Given the description of an element on the screen output the (x, y) to click on. 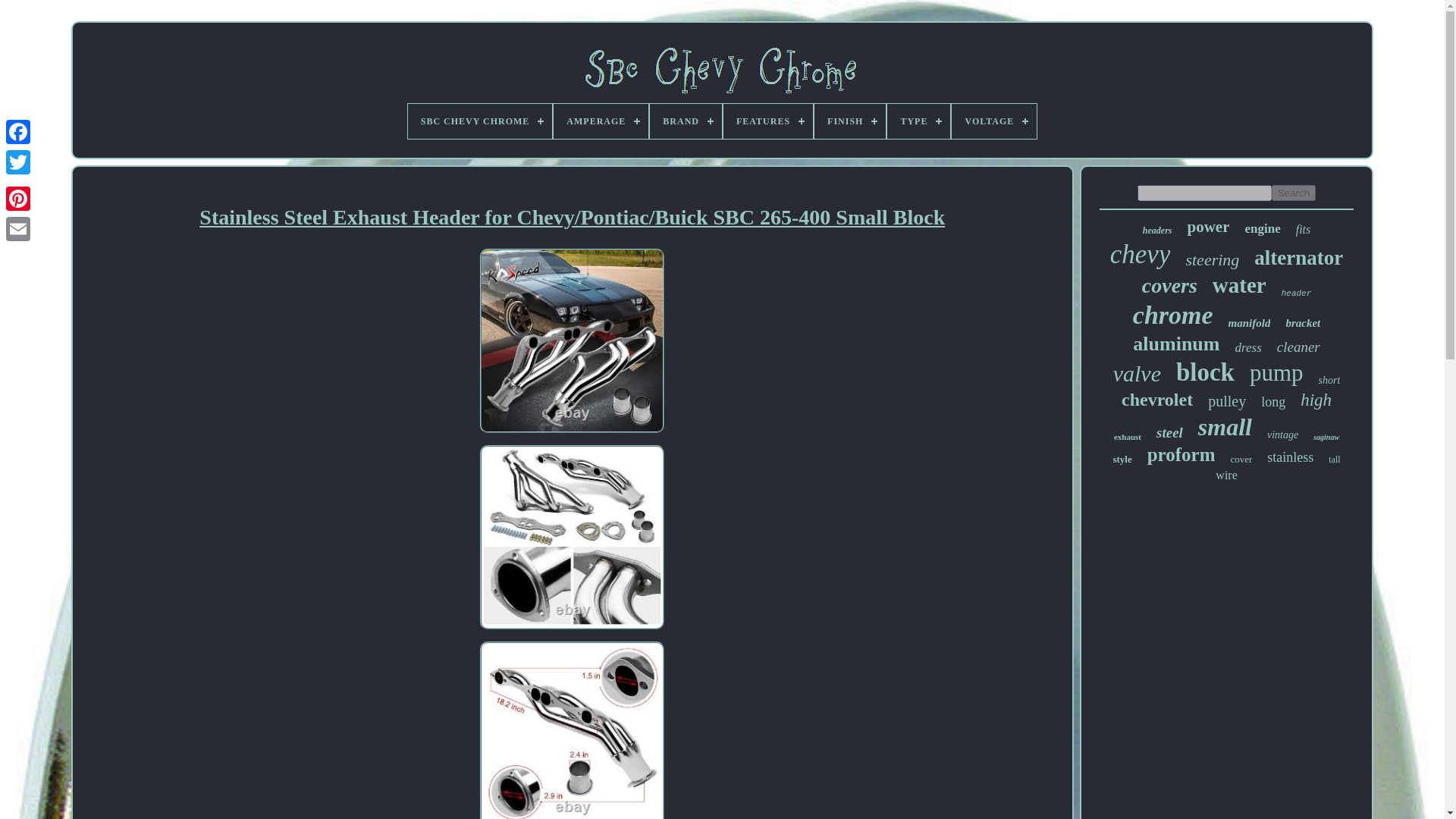
BRAND (685, 121)
SBC CHEVY CHROME (480, 121)
AMPERAGE (600, 121)
Search (1293, 192)
